Given the description of an element on the screen output the (x, y) to click on. 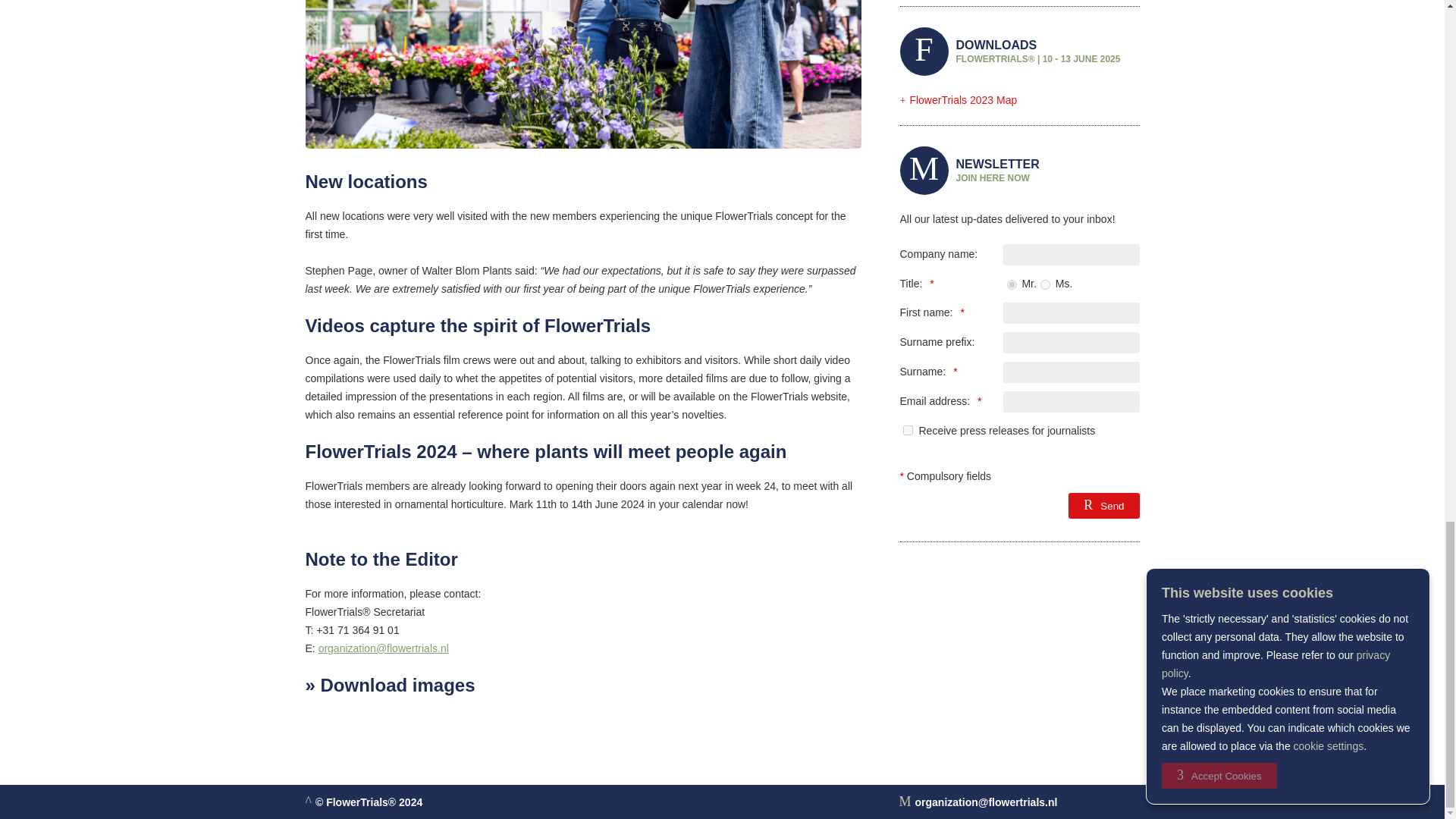
1 (907, 429)
m (1011, 284)
f (1045, 284)
